Given the description of an element on the screen output the (x, y) to click on. 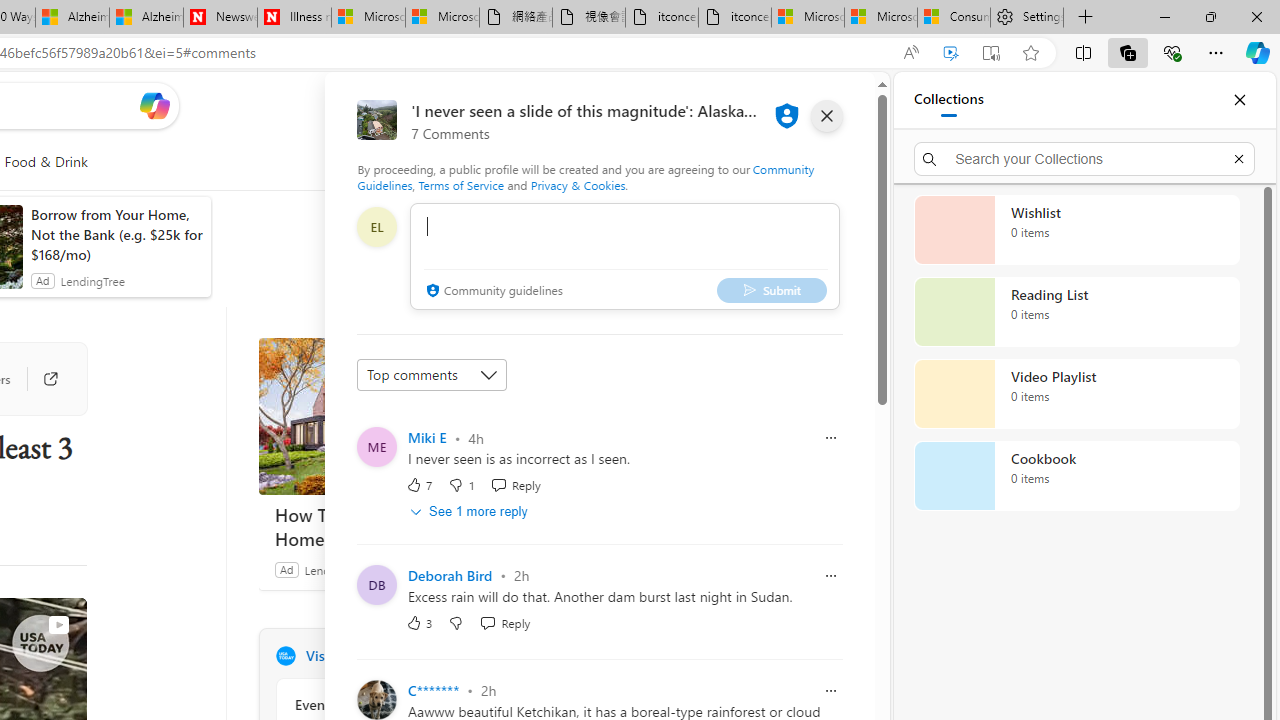
Go to publisher's site (40, 378)
Exit search (1238, 158)
Wishlist collection, 0 items (1076, 229)
Privacy & Cookies (577, 184)
Reading List collection, 0 items (1076, 312)
